Given the description of an element on the screen output the (x, y) to click on. 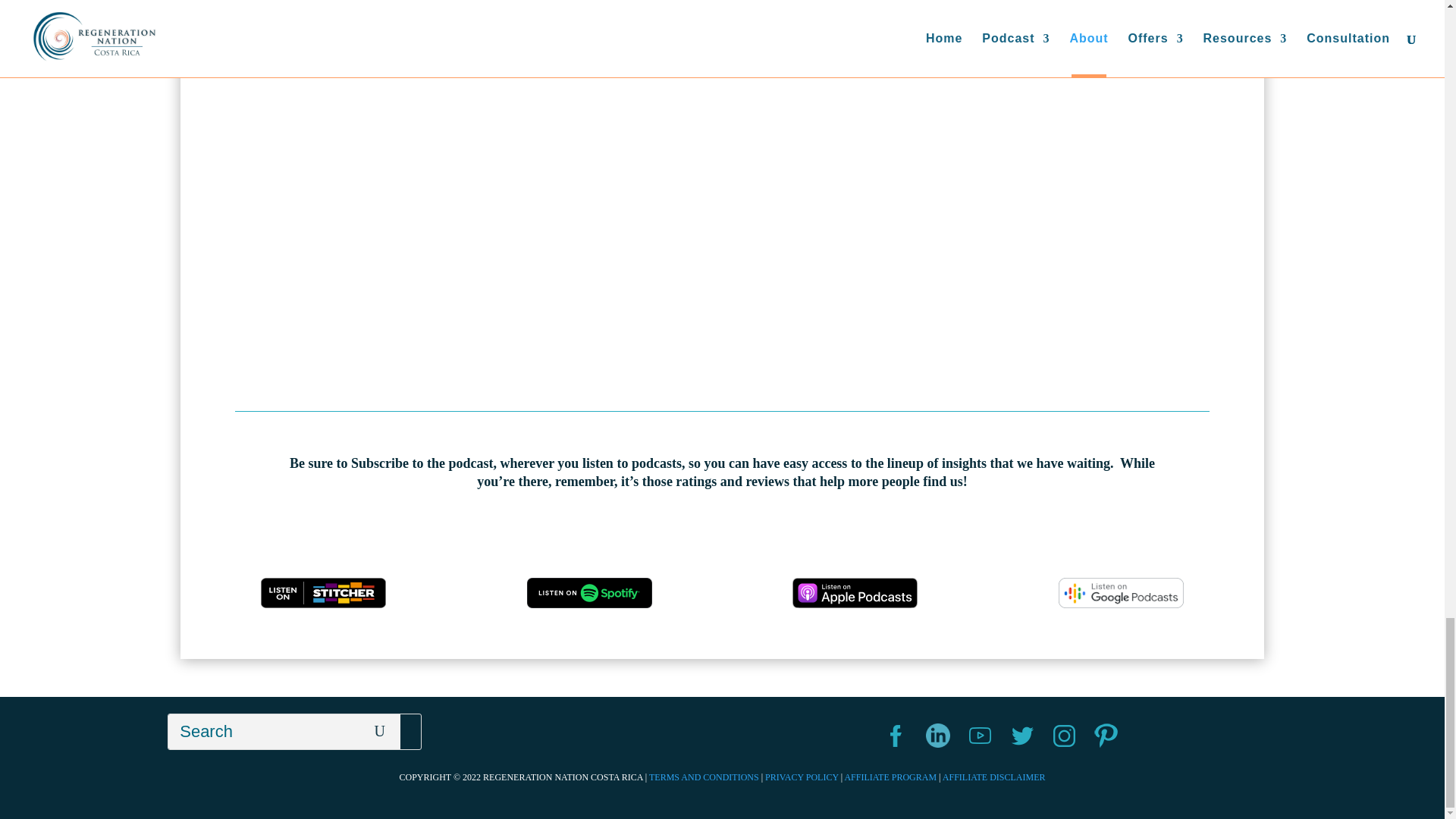
linkedInn-icon (938, 735)
twitter (1021, 735)
RegenerationNation CR on Google Podcasts (1120, 593)
fb (895, 735)
RegenerationNationCR on Spotify (589, 593)
insta (1063, 735)
RegenerationNationCR on Apple Podcasts (854, 593)
yt (979, 735)
Regeneration Nation CR on Pinterest (1106, 735)
RegenerationNation CR on Stitcher (322, 593)
